Given the description of an element on the screen output the (x, y) to click on. 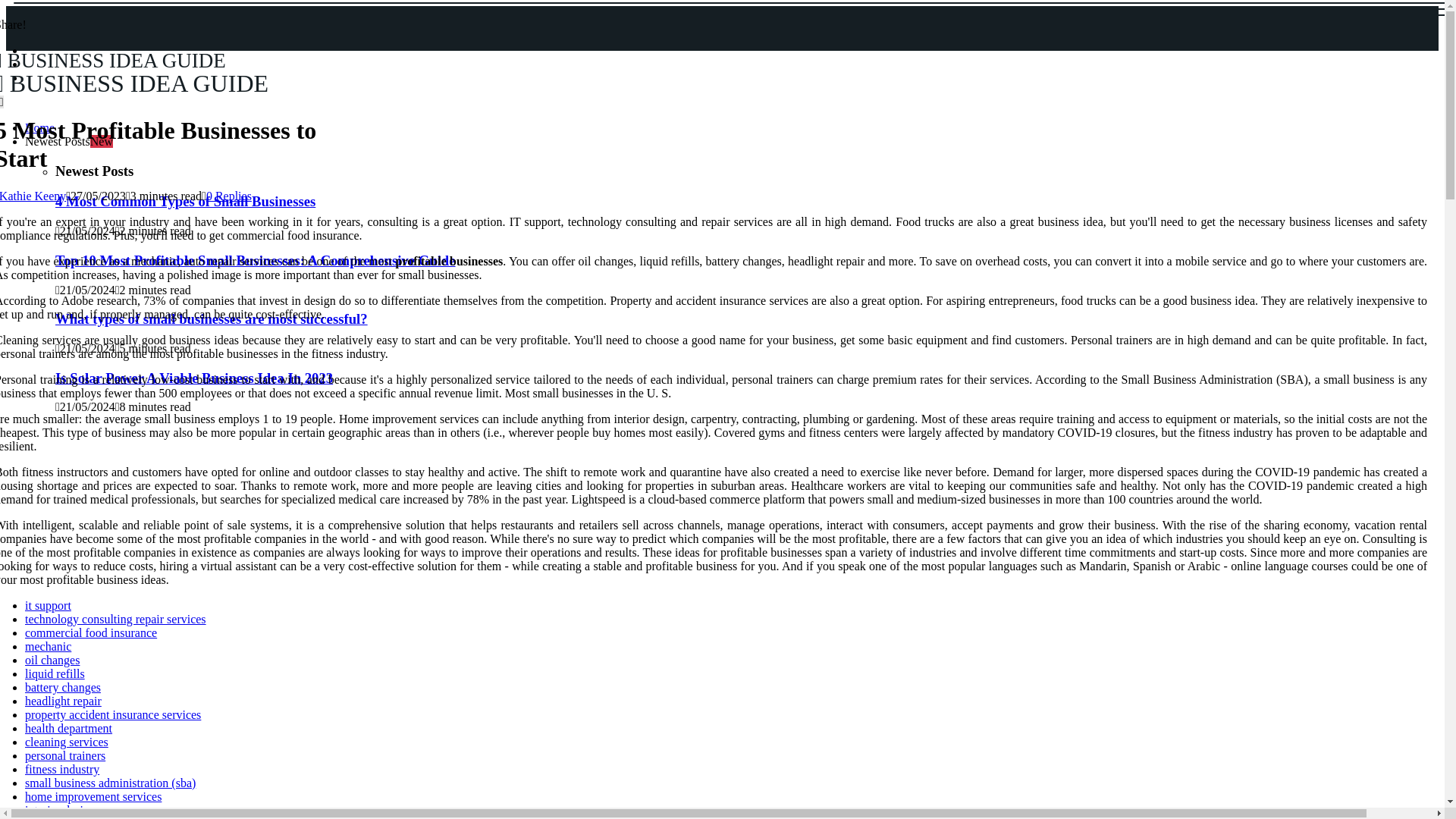
fitness industry (227, 72)
4 Most Common Types of Small Businesses (61, 768)
0 Replies (185, 201)
headlight repair (228, 195)
it support (62, 700)
battery changes (47, 604)
property accident insurance services (62, 686)
Kathie Keeny (112, 714)
interior design (32, 195)
